Given the description of an element on the screen output the (x, y) to click on. 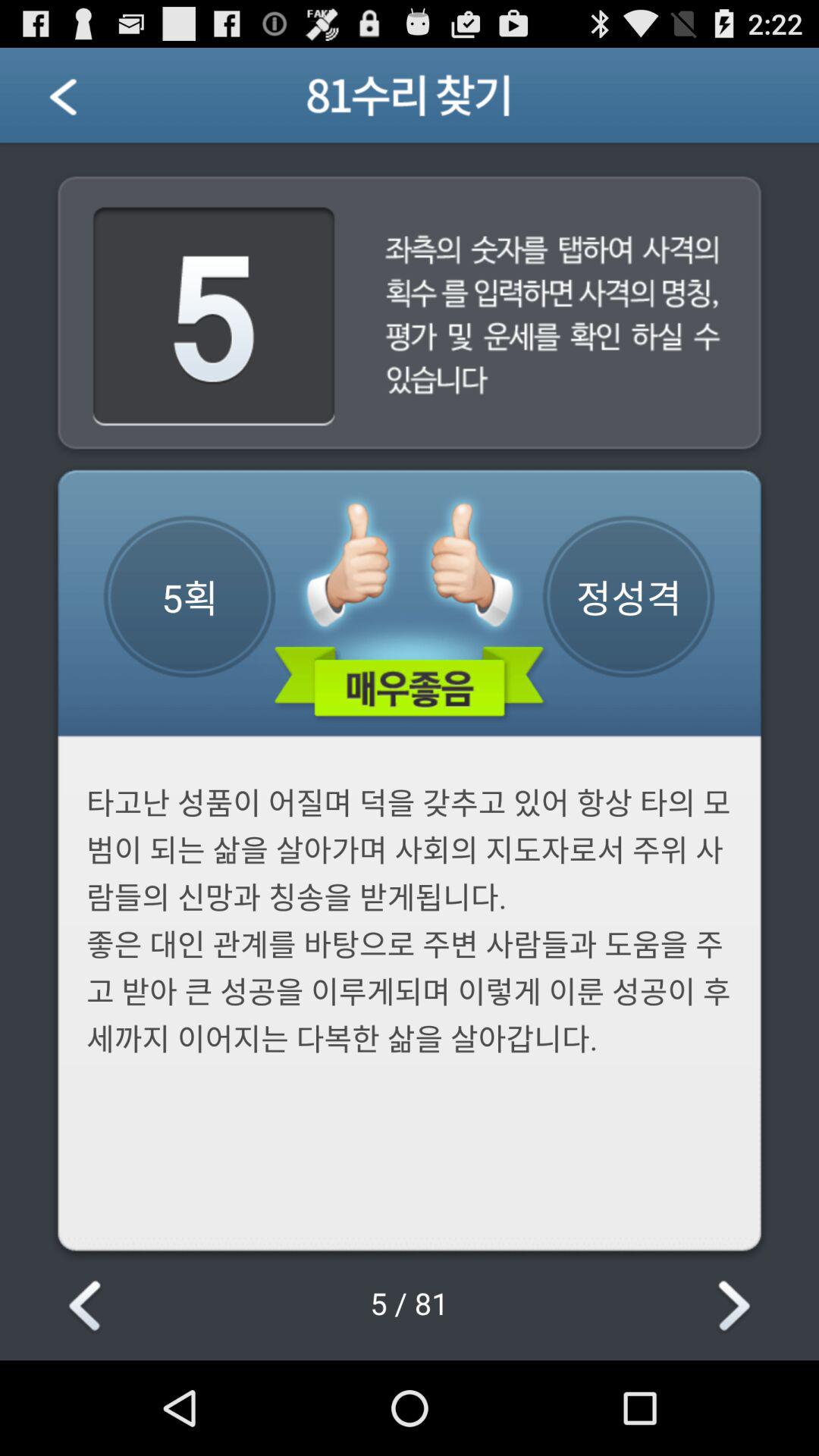
select the text which is on the blue bar (409, 101)
select the image which consists of green color information (409, 609)
select the previous button which is at the bottom of the page (87, 1307)
select the text with 5 (213, 317)
